Given the description of an element on the screen output the (x, y) to click on. 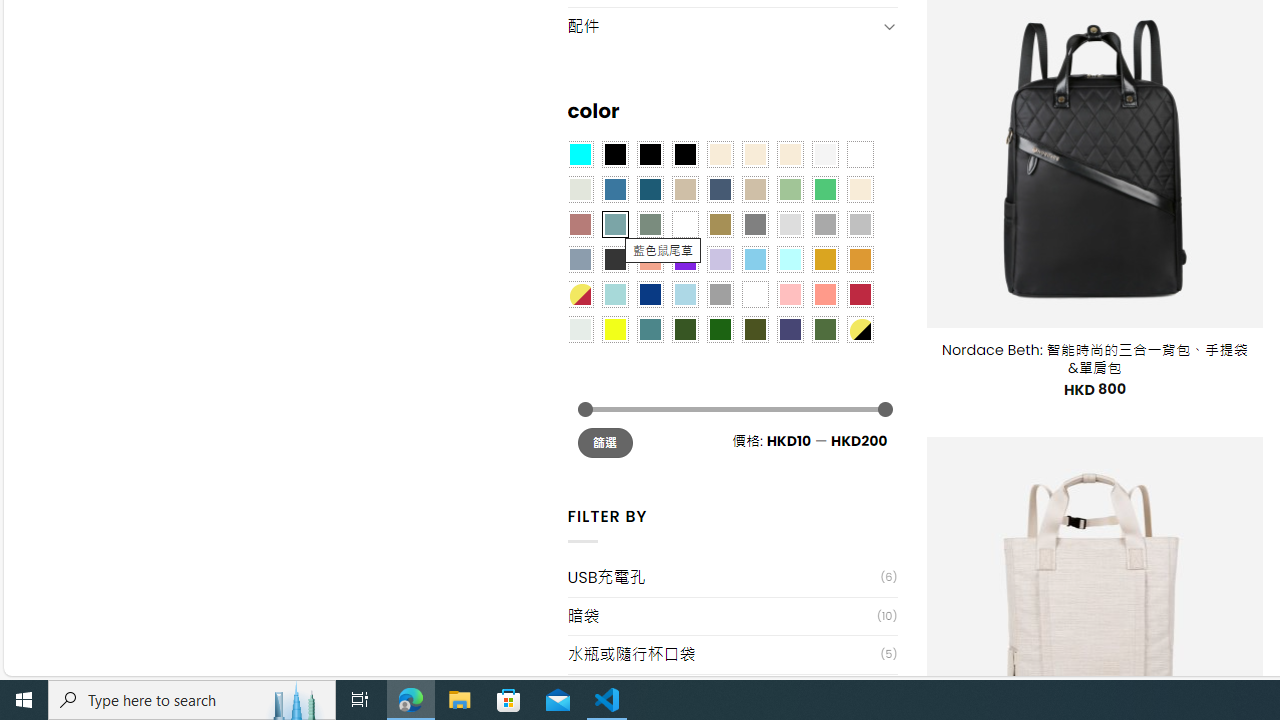
Cream (789, 154)
